Given the description of an element on the screen output the (x, y) to click on. 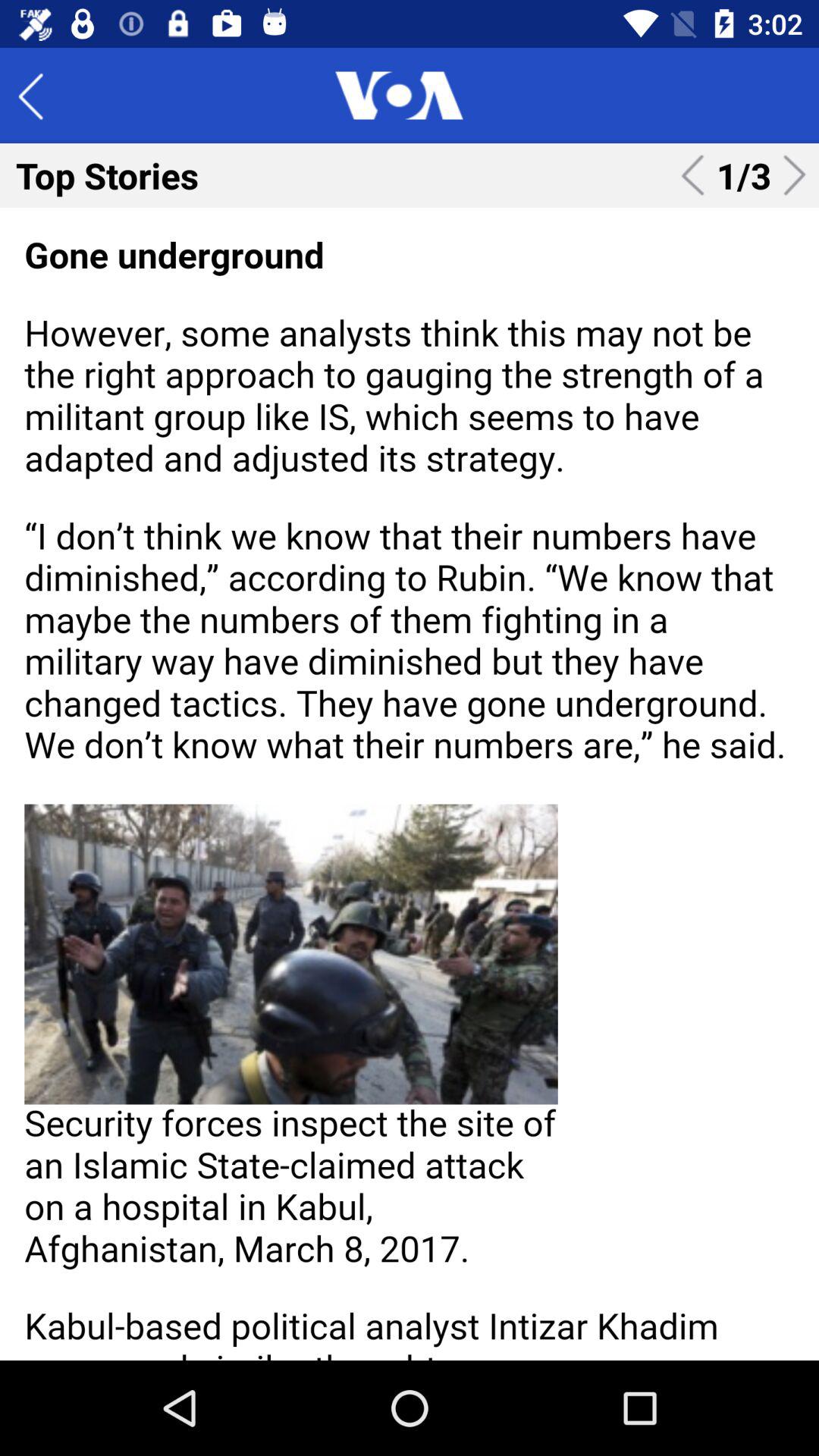
go back (41, 95)
